Given the description of an element on the screen output the (x, y) to click on. 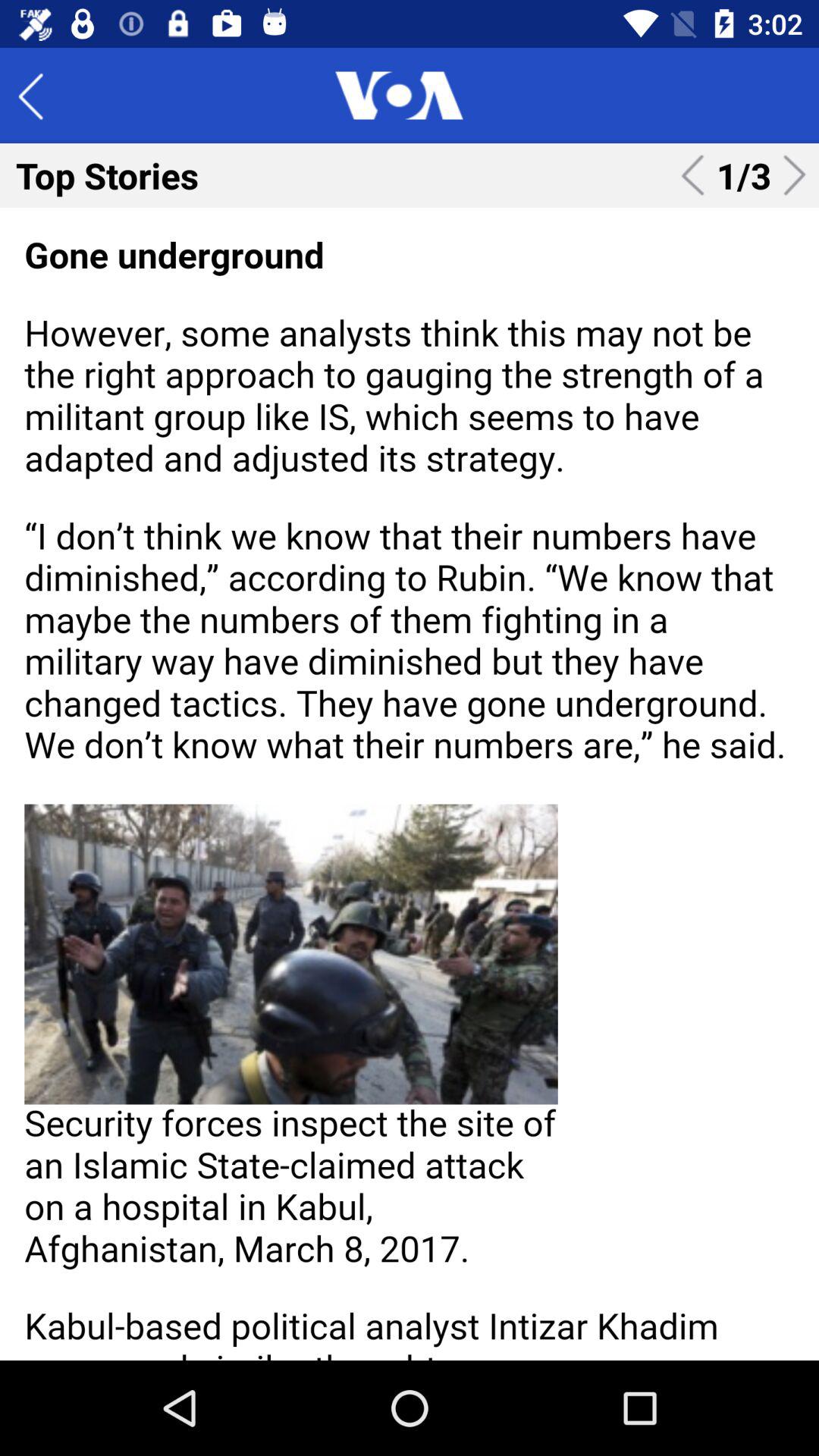
go back (41, 95)
